Given the description of an element on the screen output the (x, y) to click on. 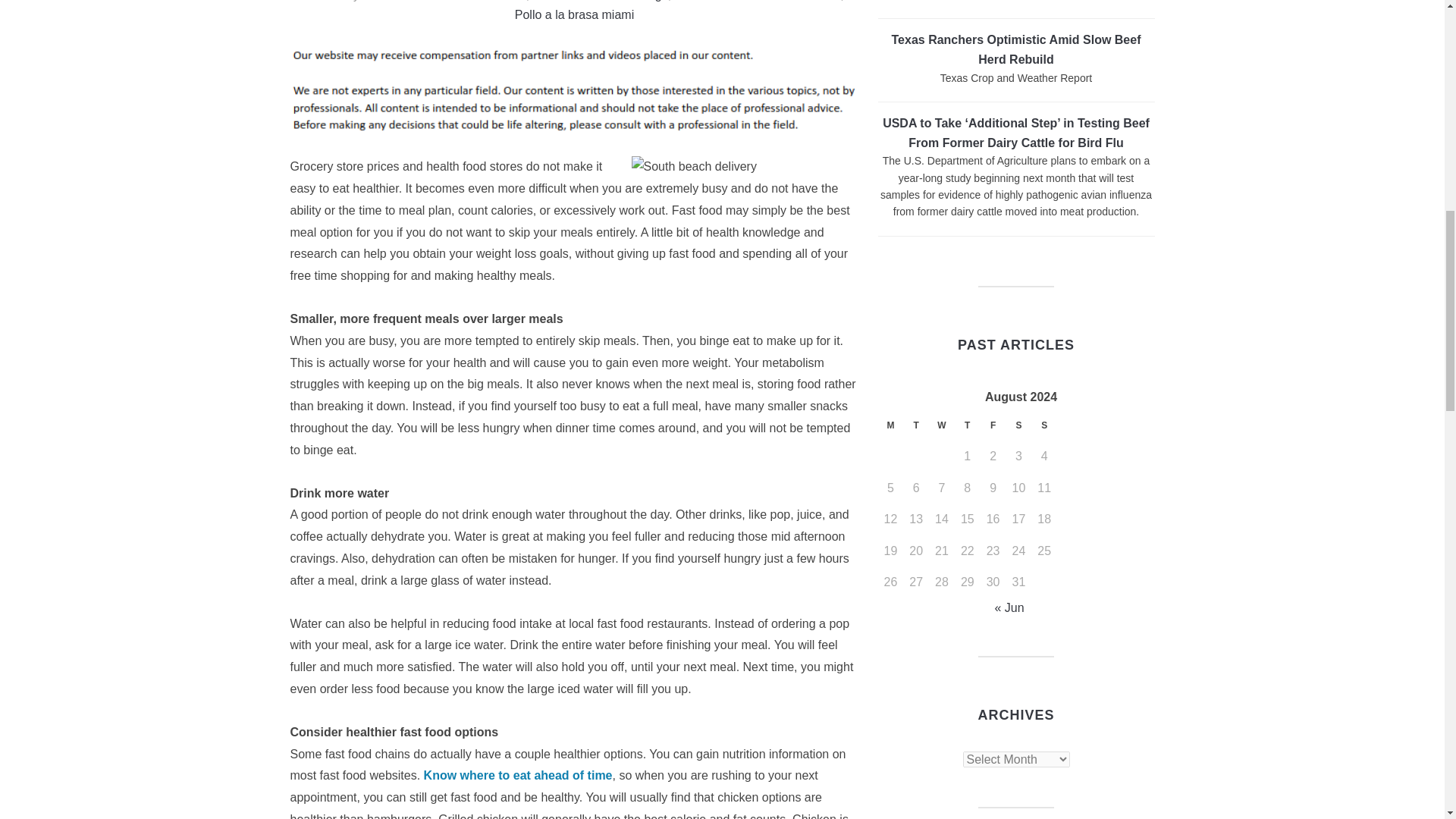
Texas Ranchers Optimistic Amid Slow Beef Herd Rebuild (1016, 49)
Monday (890, 429)
Pollo a la brasa miami (574, 14)
Tuesday (915, 429)
Know where to eat ahead of time (517, 775)
Posts by Farmers Market (405, 0)
Chicken wings (628, 0)
Farmers Market (405, 0)
Great find (517, 775)
